Given the description of an element on the screen output the (x, y) to click on. 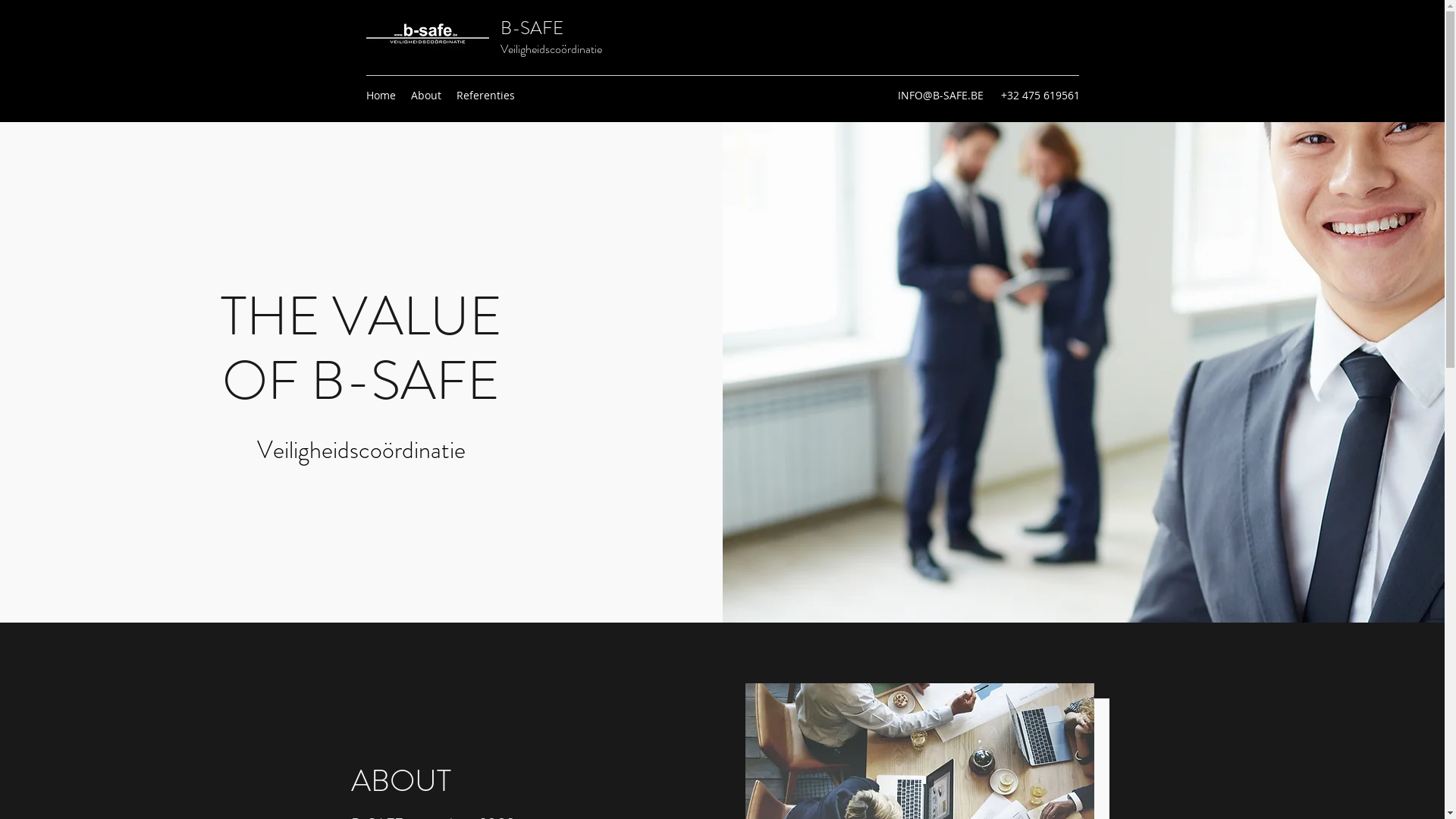
About Element type: text (425, 95)
Referenties Element type: text (485, 95)
INFO@B-SAFE.BE Element type: text (940, 94)
Home Element type: text (379, 95)
B-SAFE Element type: text (531, 27)
